Given the description of an element on the screen output the (x, y) to click on. 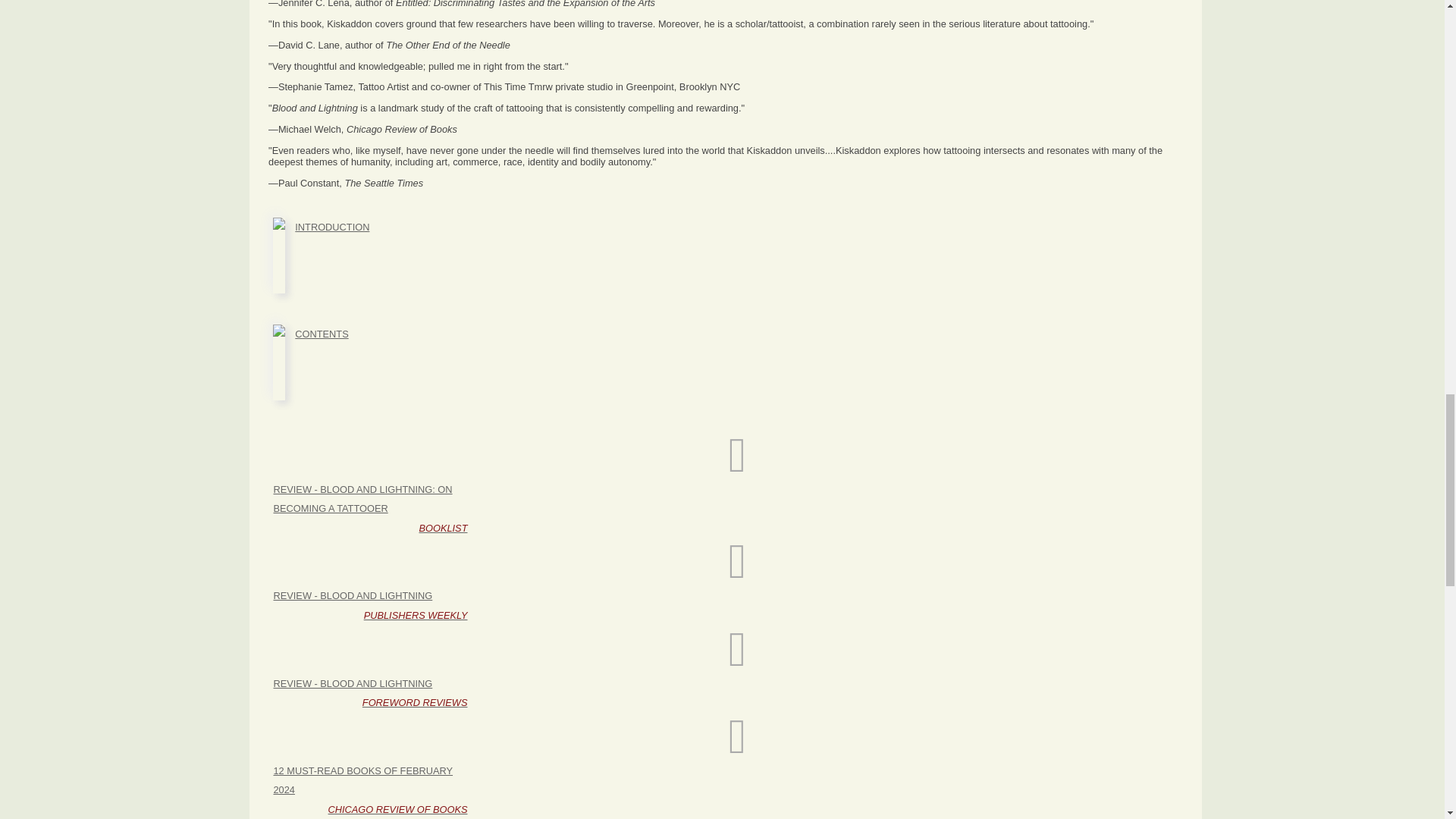
INTRODUCTION (737, 668)
CONTENTS (737, 580)
